Given the description of an element on the screen output the (x, y) to click on. 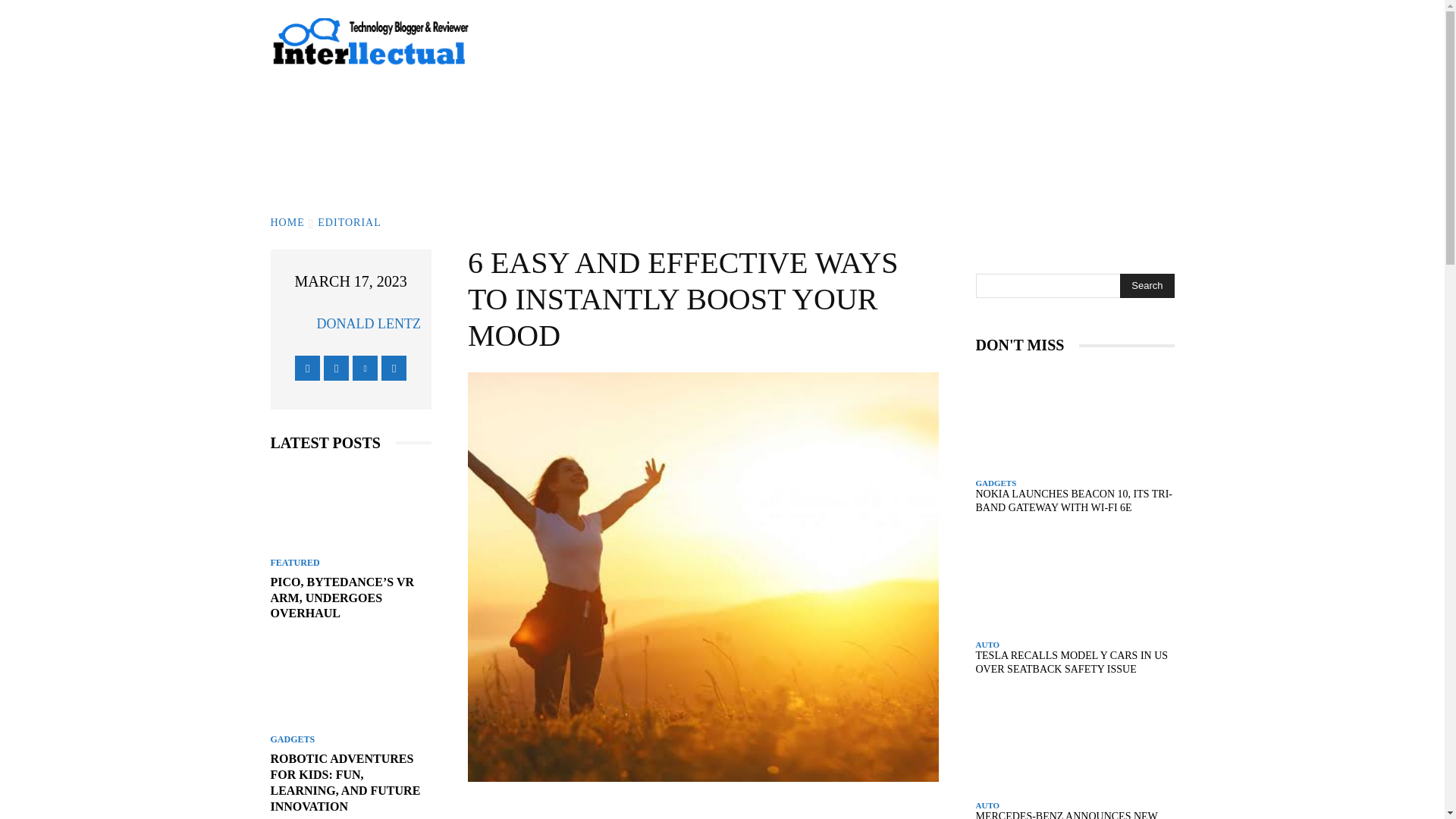
DONALD LENTZ (367, 323)
Facebook (307, 367)
Youtube (393, 367)
Instagram (336, 367)
EDITORIAL (348, 222)
HOME (286, 222)
View all posts in Editorial (348, 222)
Twitter (364, 367)
Donald Lentz (296, 323)
